Given the description of an element on the screen output the (x, y) to click on. 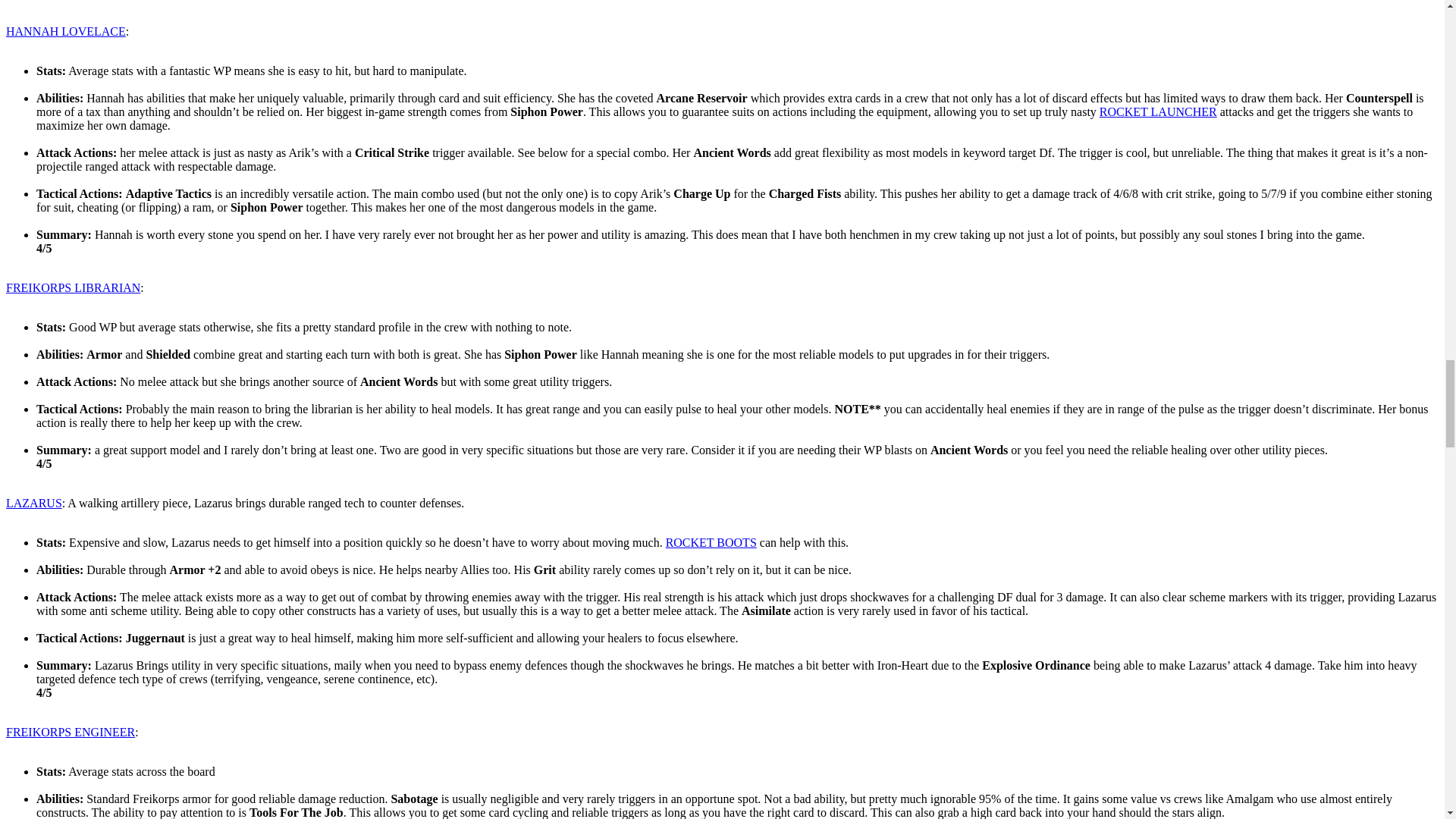
HANNAH LOVELACE (65, 31)
